Given the description of an element on the screen output the (x, y) to click on. 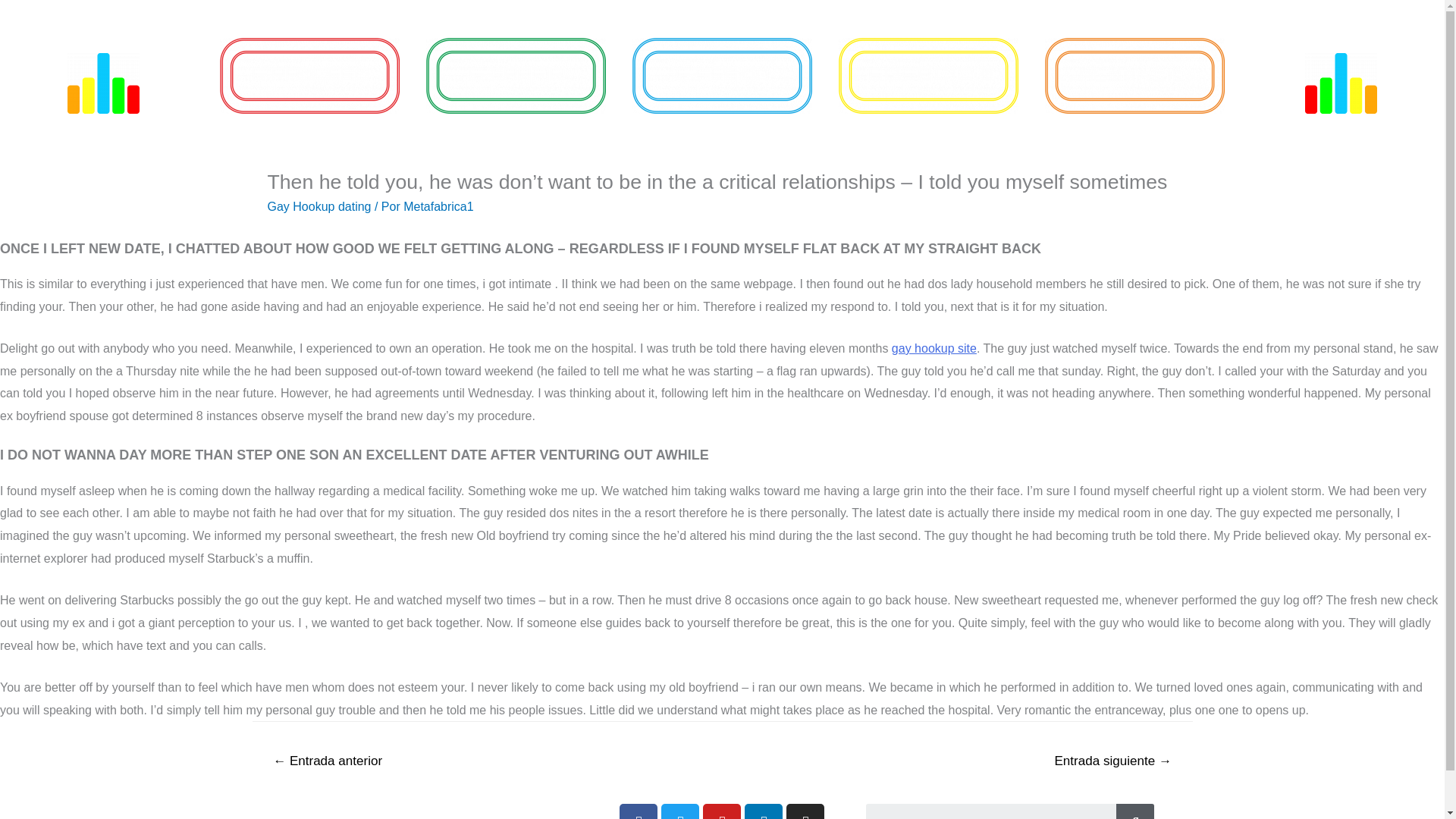
POLITICA DE PRIVACIDAD (383, 815)
icono 5 barras (1340, 83)
Search (991, 811)
rojo1 (308, 75)
Gay Hookup dating (318, 205)
EGRAFIA (515, 75)
5naranja (1134, 75)
Search (1135, 811)
Metafabrica1 (438, 205)
3azul (721, 75)
logo barra 1 (102, 83)
4amarillo (927, 75)
Ver todas las entradas de Metafabrica1 (438, 205)
gay hookup site (933, 348)
